Given the description of an element on the screen output the (x, y) to click on. 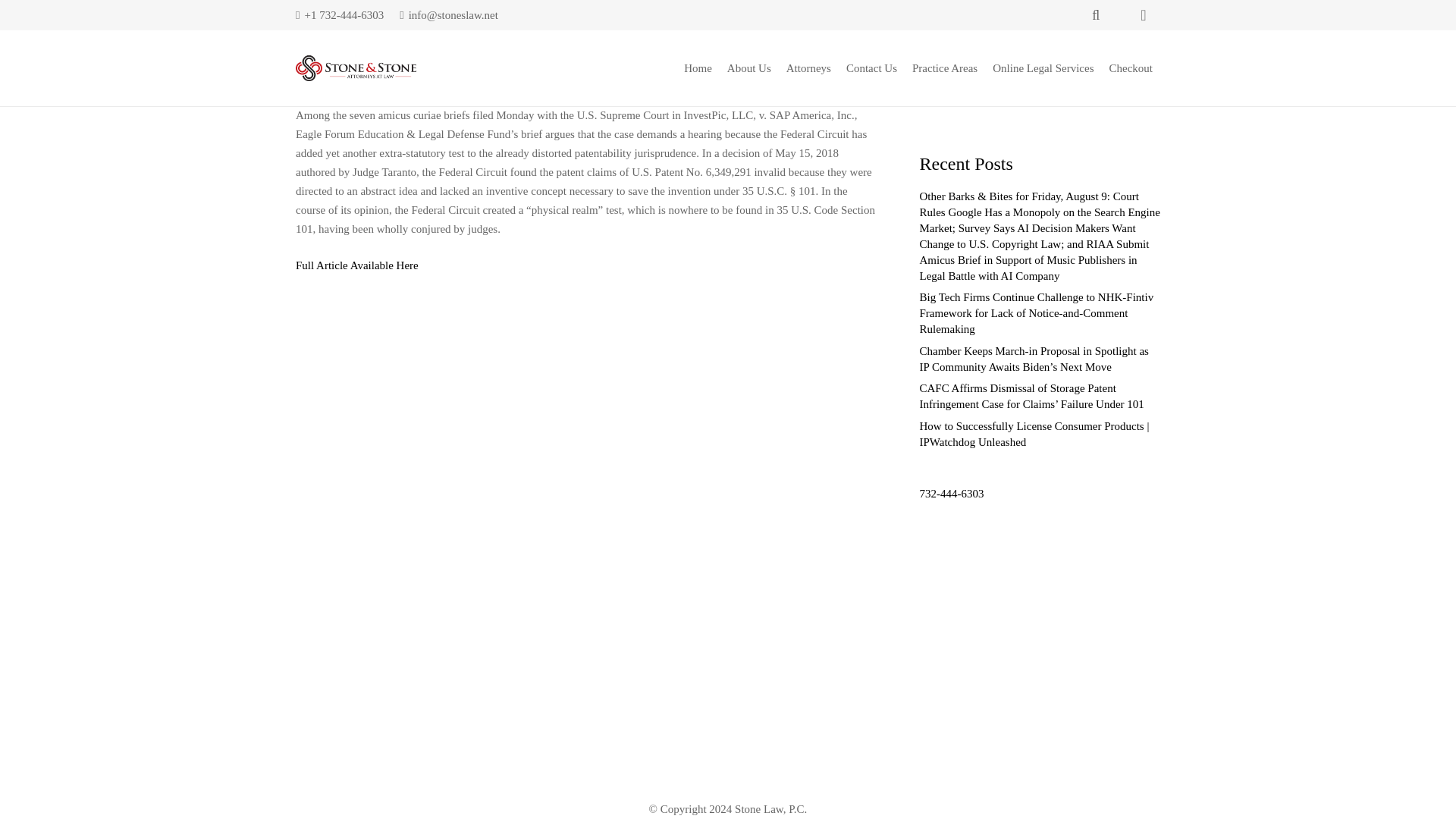
Home (698, 67)
About Us (748, 67)
Practice Areas (944, 67)
Contact Us (871, 67)
Attorneys (808, 67)
